Given the description of an element on the screen output the (x, y) to click on. 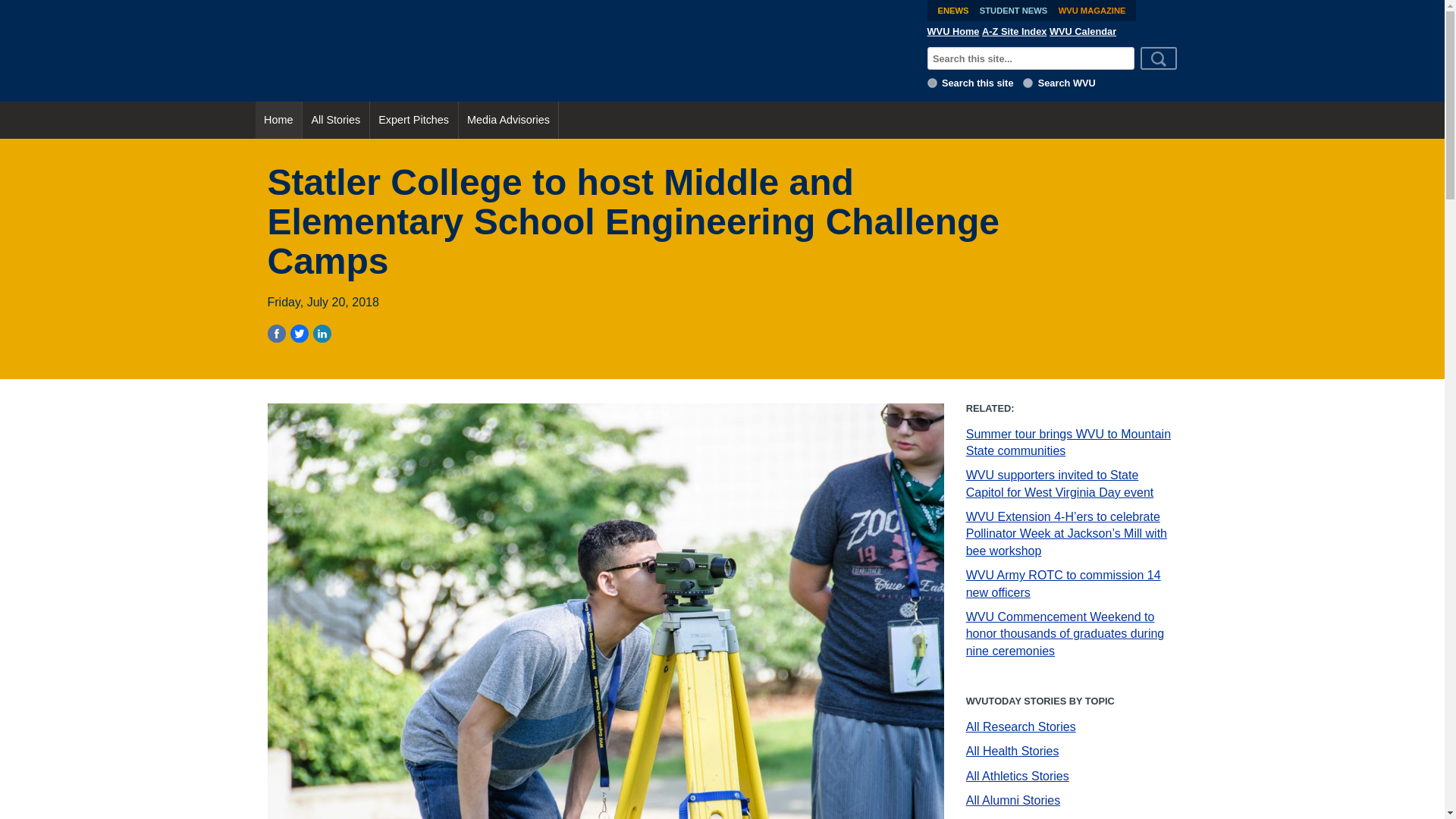
All Athletics Stories (1017, 775)
WVU Calendar (1082, 31)
All Research Stories (1020, 726)
A-Z Site Index (1013, 31)
All Stories (335, 119)
Search (1158, 57)
Search (1158, 57)
WVU MAGAZINE (1091, 10)
WVU Today (585, 50)
wvutoday.wvu.edu (932, 82)
WVU Home (953, 31)
ENEWS (952, 10)
All Alumni Stories (1013, 799)
